Given the description of an element on the screen output the (x, y) to click on. 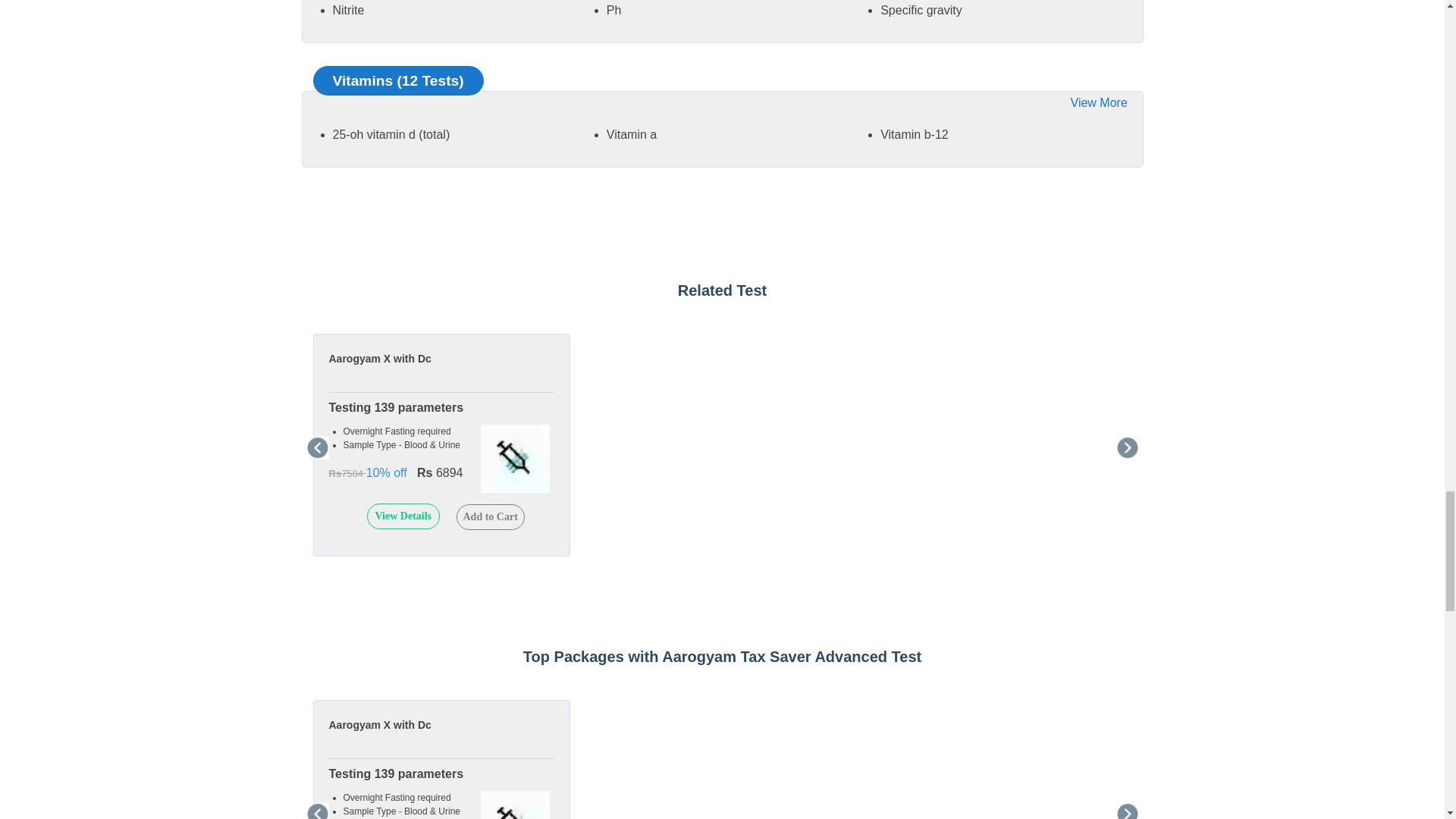
View Details (403, 516)
Add to Cart (490, 516)
